Given the description of an element on the screen output the (x, y) to click on. 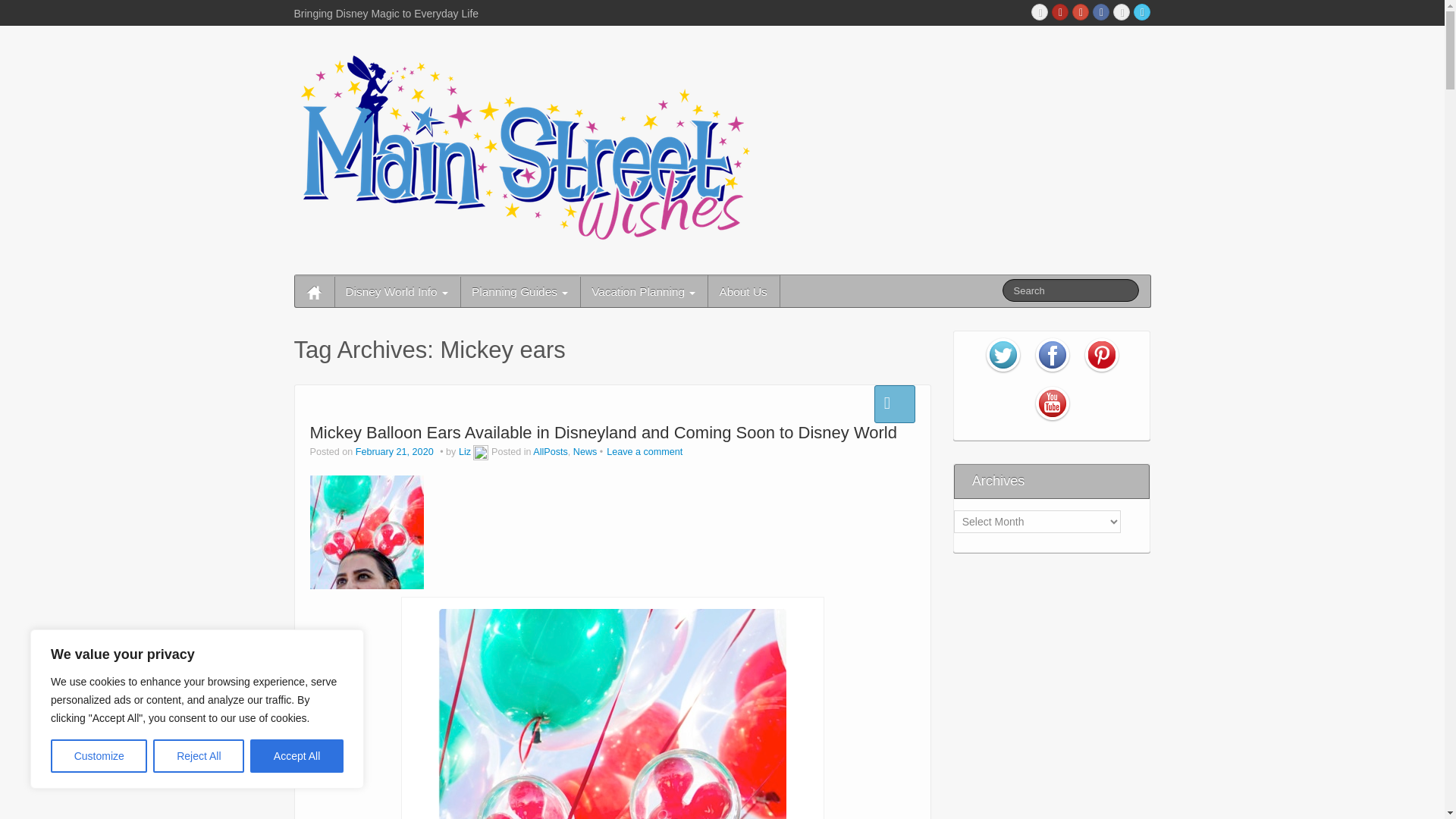
Liz (464, 451)
Reject All (198, 756)
Vacation Planning (642, 291)
News (584, 451)
AllPosts (549, 451)
View all posts by Liz (464, 451)
View all posts by Liz (480, 451)
10:12 pm (395, 451)
Main Street Wishes Facebook (1101, 12)
Disney World Info (395, 291)
Main Street Wishes Googleplus (1080, 12)
Accept All (296, 756)
February 21, 2020 (395, 451)
